Given the description of an element on the screen output the (x, y) to click on. 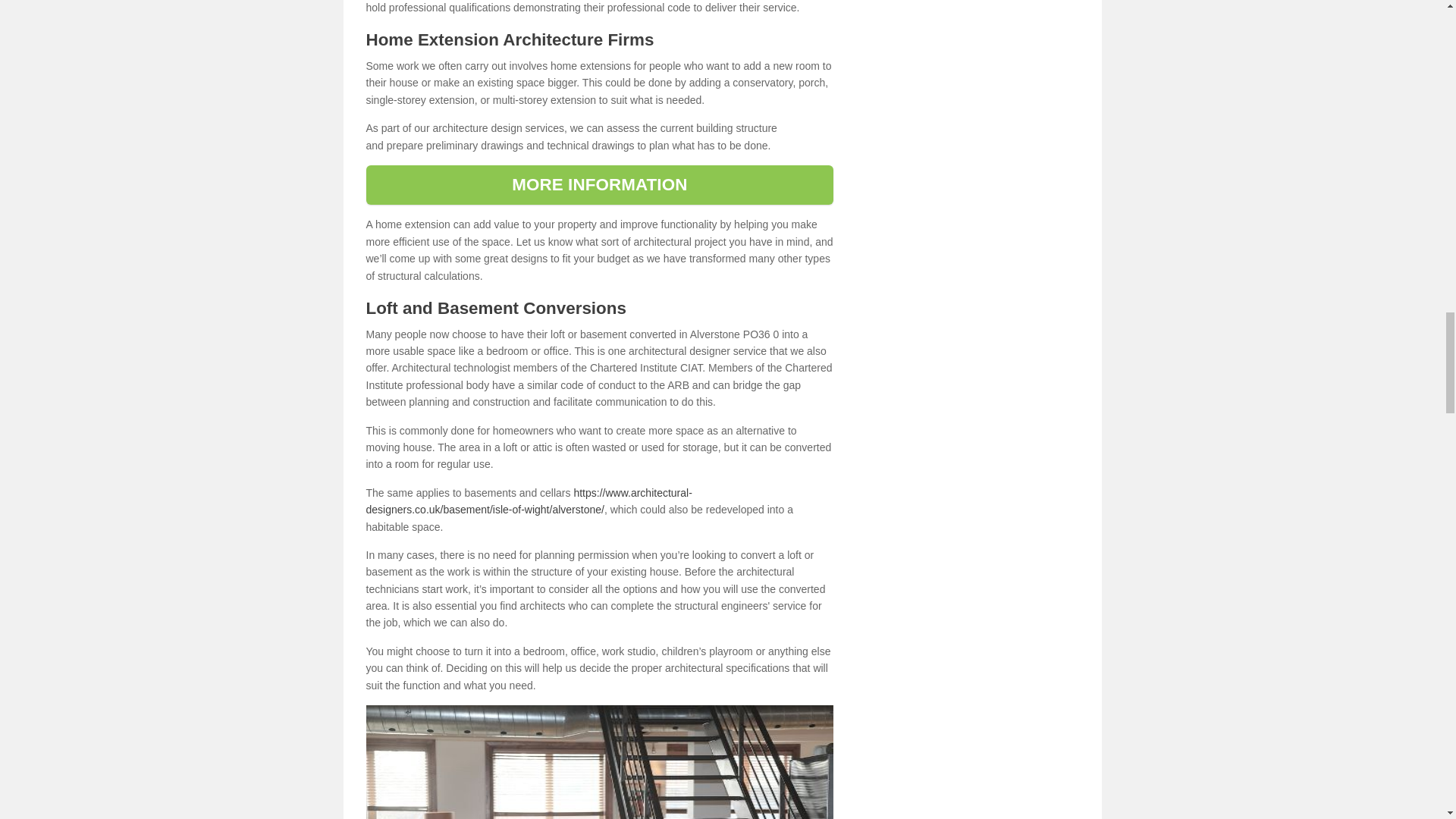
Home (598, 762)
